Given the description of an element on the screen output the (x, y) to click on. 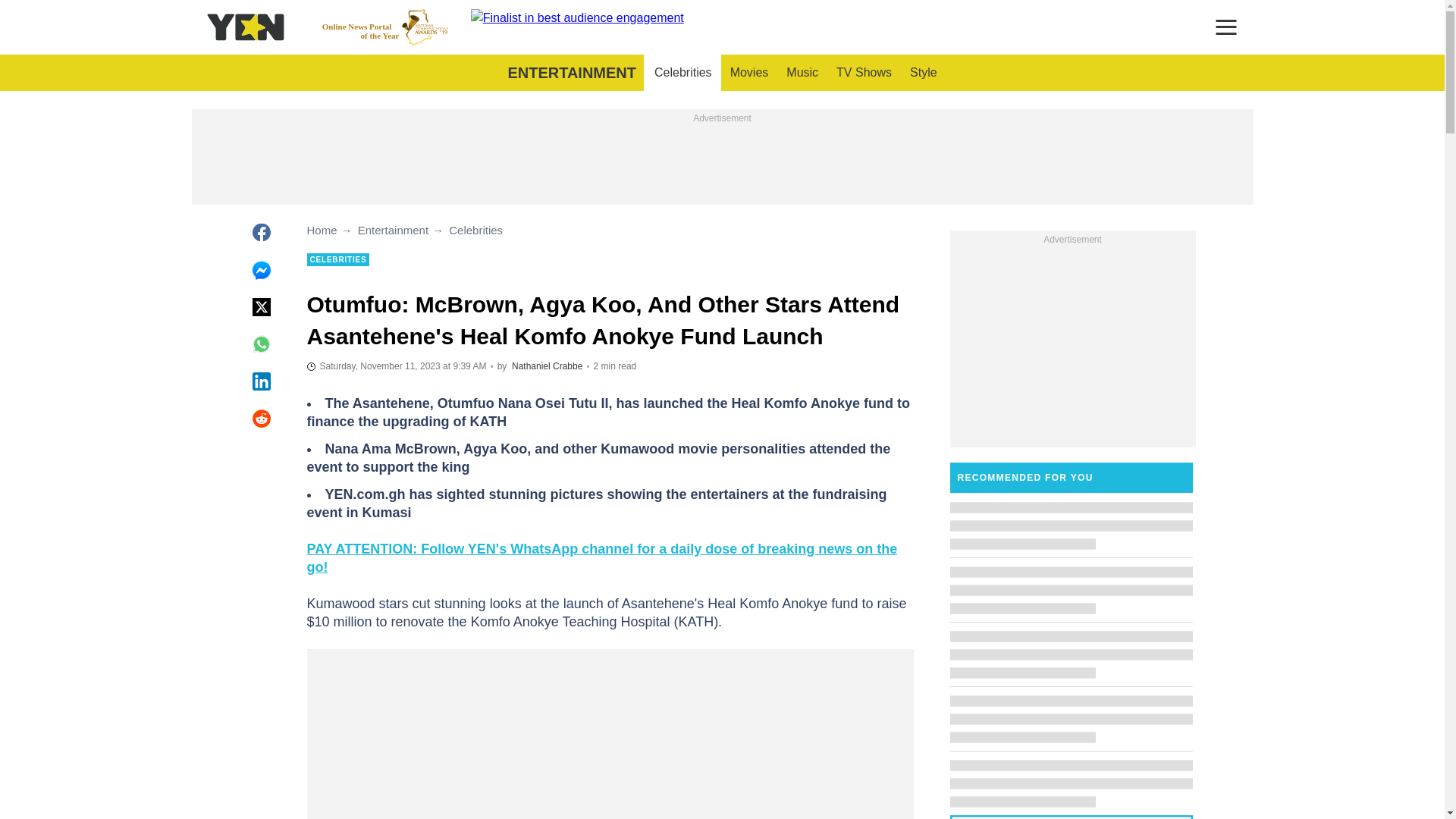
TV Shows (864, 72)
WhatsApp Channel (384, 27)
Movies (600, 557)
Style (748, 72)
Music (923, 72)
Celebrities (802, 72)
2023-11-11T09:39:14Z (682, 72)
ENTERTAINMENT (395, 366)
Author page (571, 72)
